Given the description of an element on the screen output the (x, y) to click on. 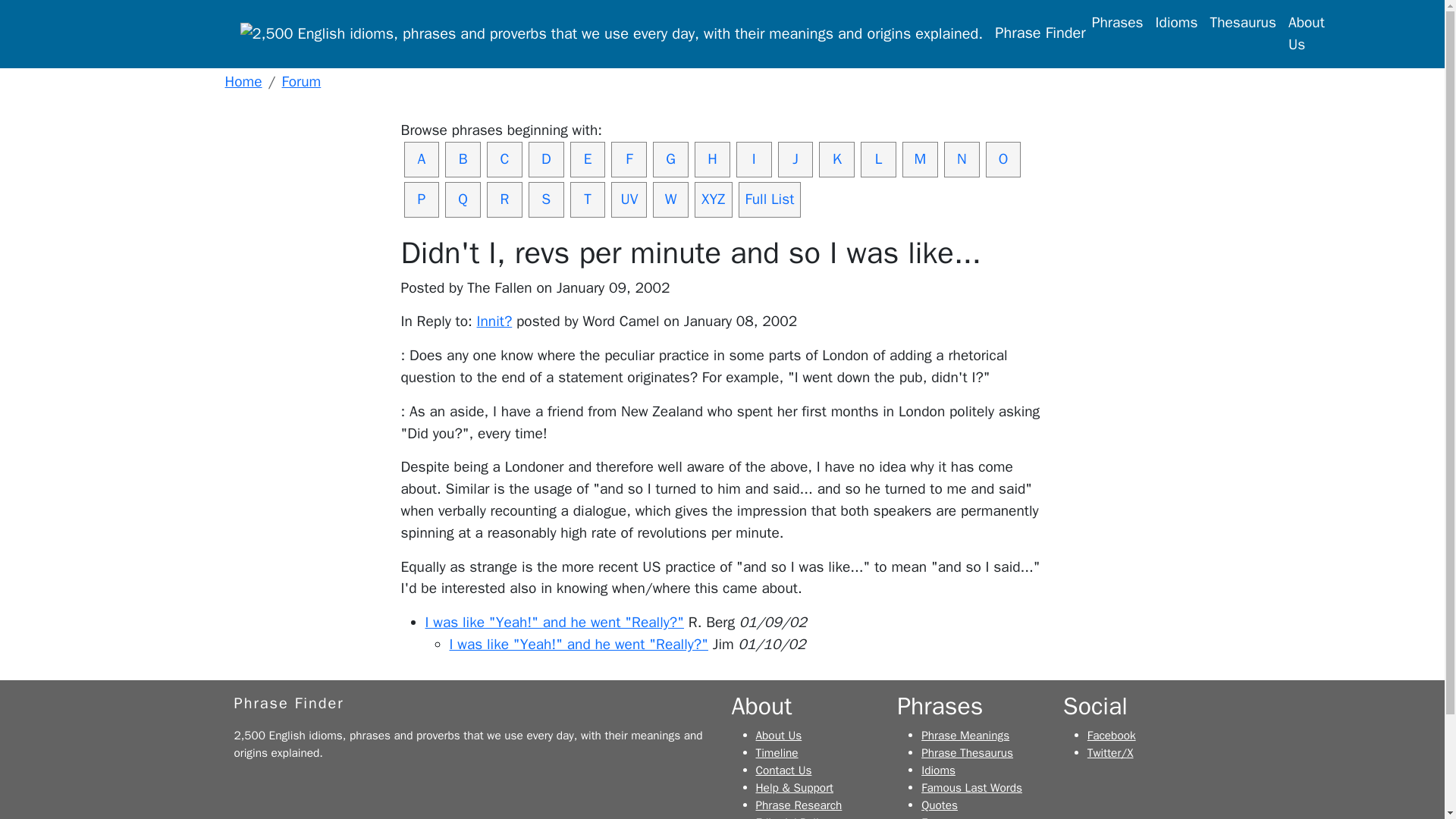
Sayings and idioms that begin with the letter S (546, 199)
Sayings and idioms that begin with the letter F (628, 159)
Sayings and idioms that begin with the letter B (462, 159)
Contact Us (782, 770)
S (546, 199)
Timeline (776, 752)
Sayings and idioms that begin with the letter D (546, 159)
Phrases (1118, 22)
I was like "Yeah!" and he went "Really?" (577, 644)
E (587, 159)
Sayings and idioms that begin with the letter L (878, 159)
Sayings and idioms that begin with the letter P (421, 199)
T (587, 199)
O (1003, 159)
I (753, 159)
